Given the description of an element on the screen output the (x, y) to click on. 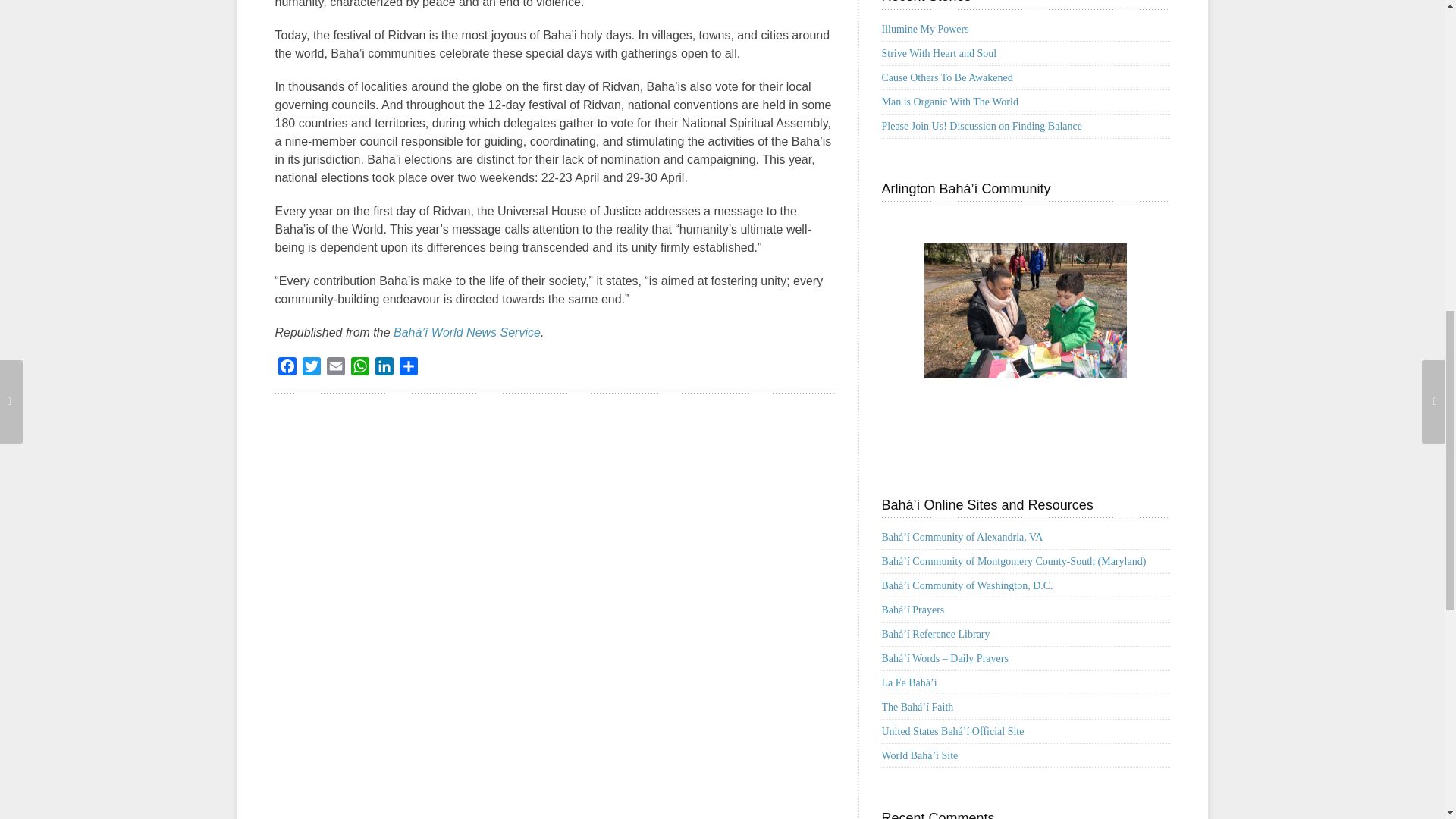
Email (335, 368)
LinkedIn (383, 368)
Email (335, 368)
WhatsApp (359, 368)
Strive With Heart and Soul (937, 52)
Facebook (286, 368)
WhatsApp (359, 368)
Twitter (310, 368)
Cause Others To Be Awakened (945, 77)
LinkedIn (383, 368)
